Given the description of an element on the screen output the (x, y) to click on. 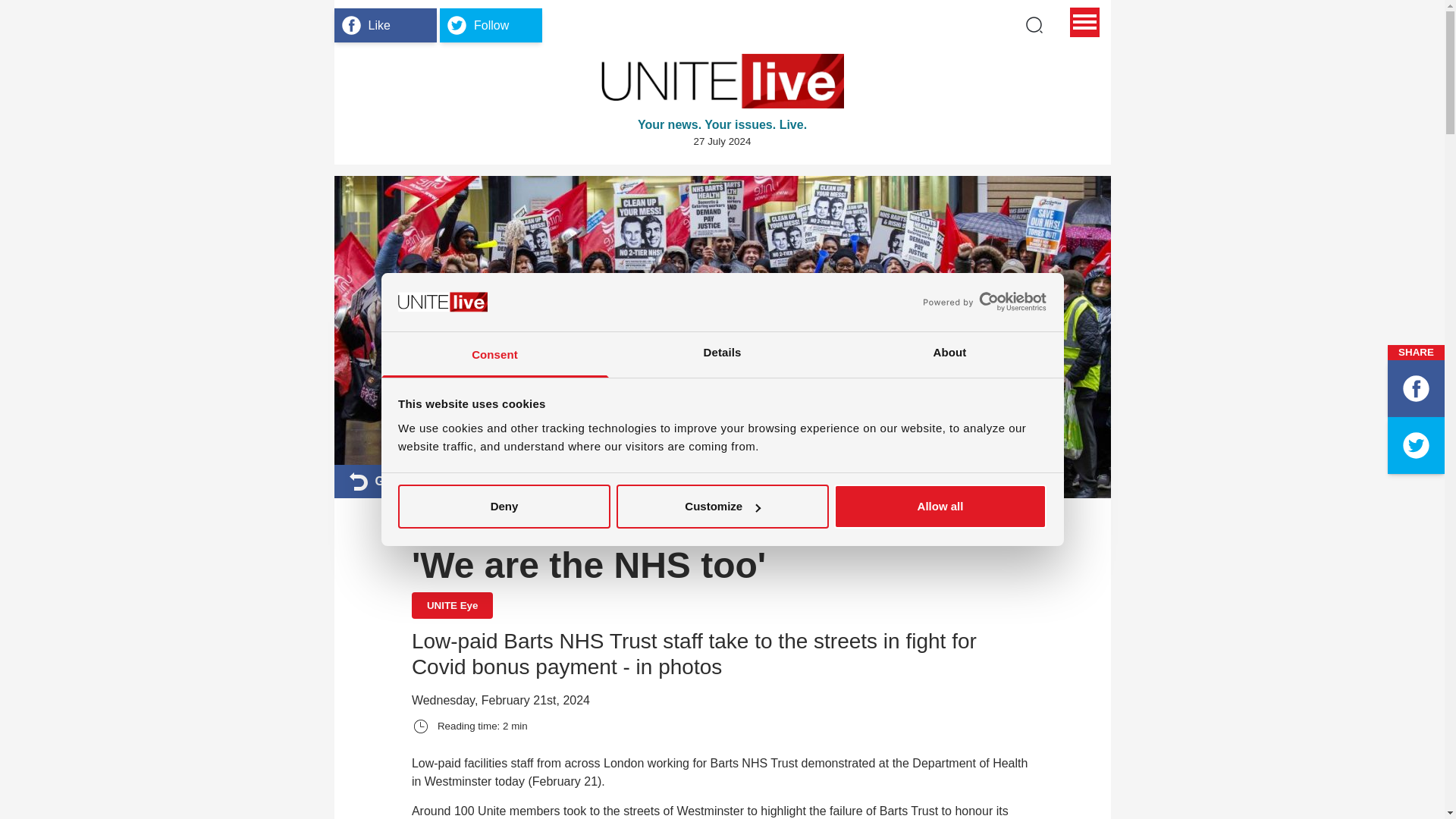
Details (721, 354)
Deny (503, 506)
Consent (494, 354)
Customize (721, 506)
About (948, 354)
